Given the description of an element on the screen output the (x, y) to click on. 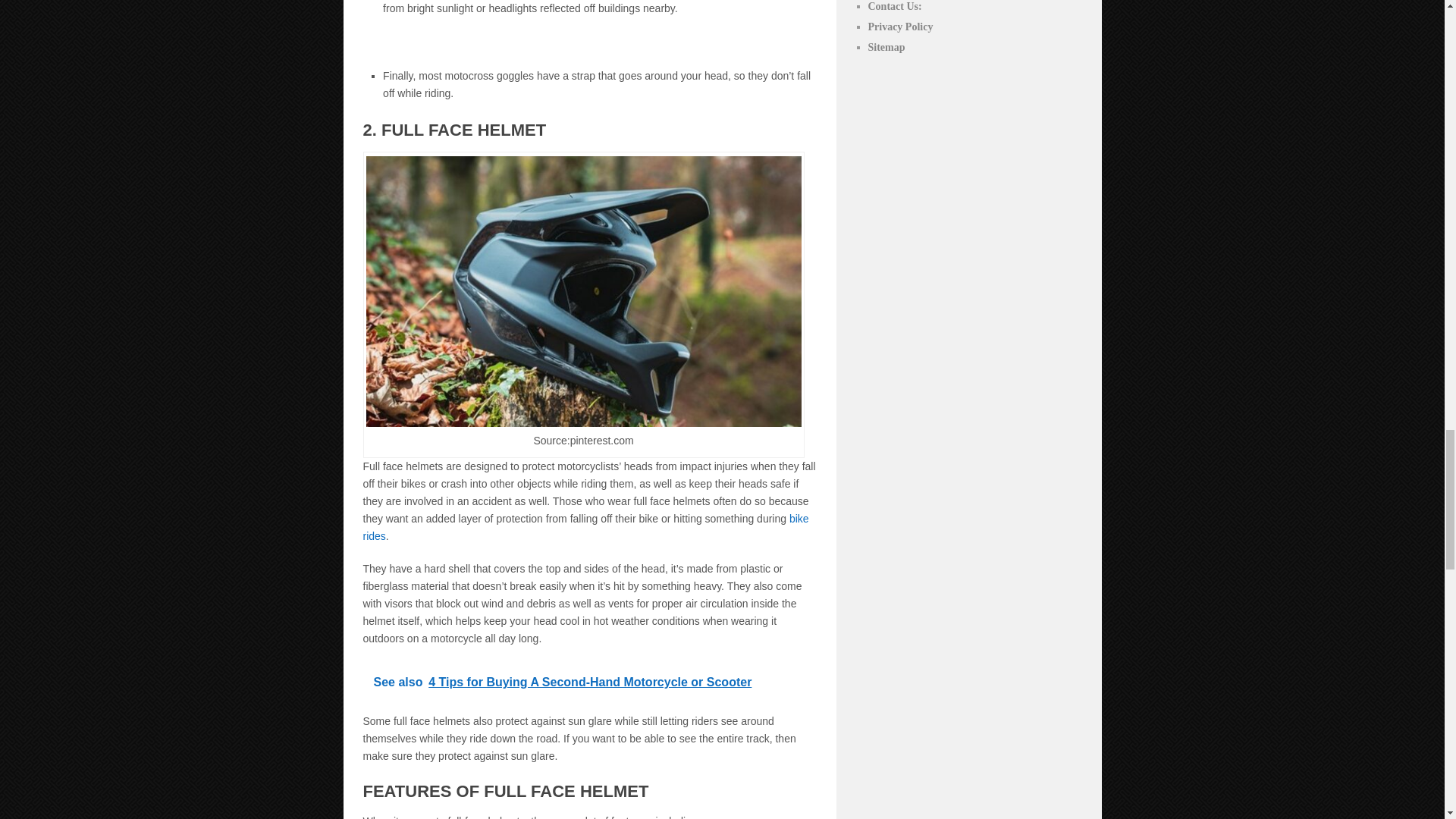
Full face helmet 630x392 (582, 291)
